Given the description of an element on the screen output the (x, y) to click on. 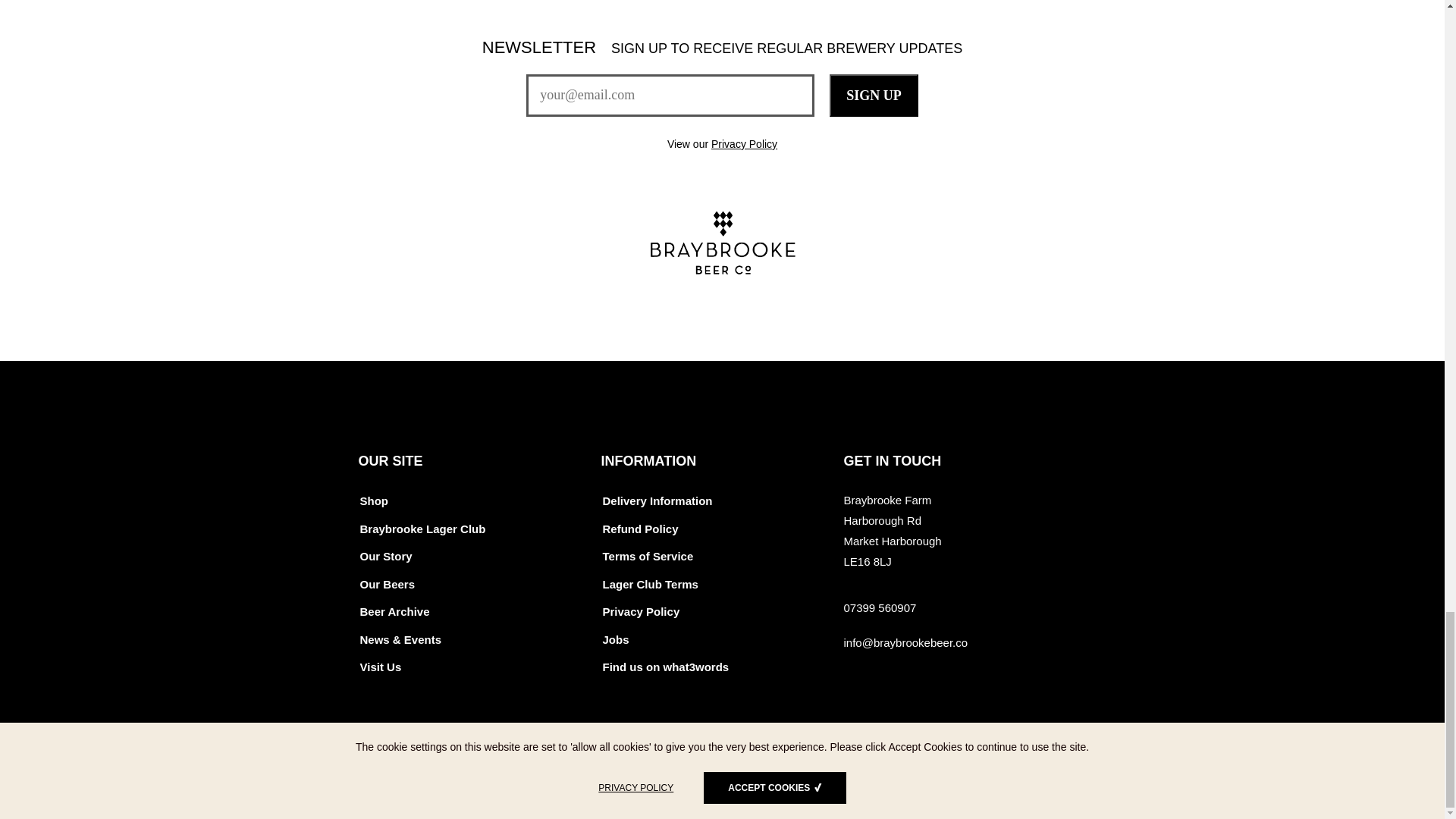
Twitter (855, 771)
Facebook (895, 771)
Instagram (933, 771)
